Given the description of an element on the screen output the (x, y) to click on. 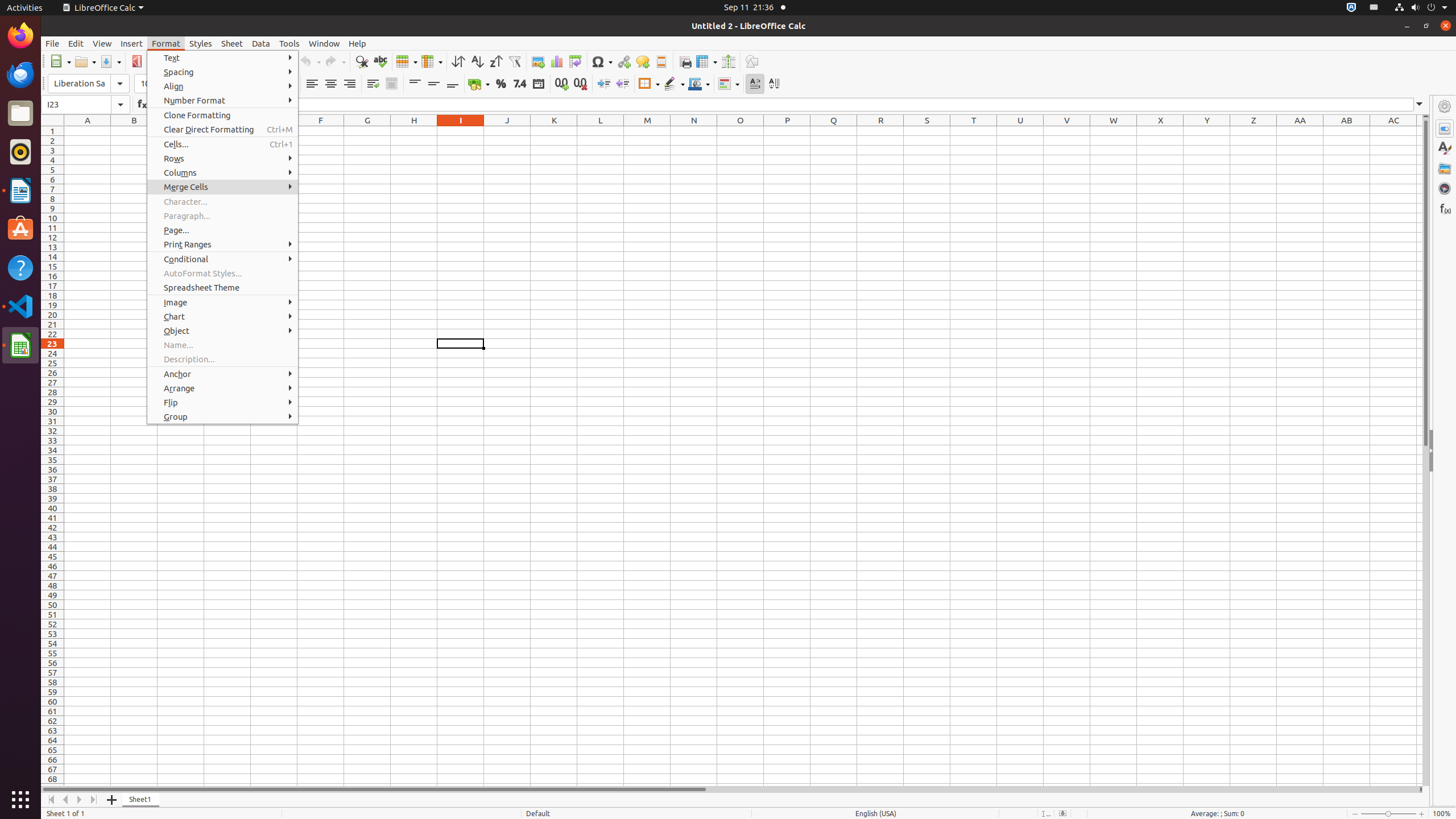
AA1 Element type: table-cell (1299, 130)
PDF Element type: push-button (136, 61)
G1 Element type: table-cell (367, 130)
Object Element type: menu (222, 330)
